Given the description of an element on the screen output the (x, y) to click on. 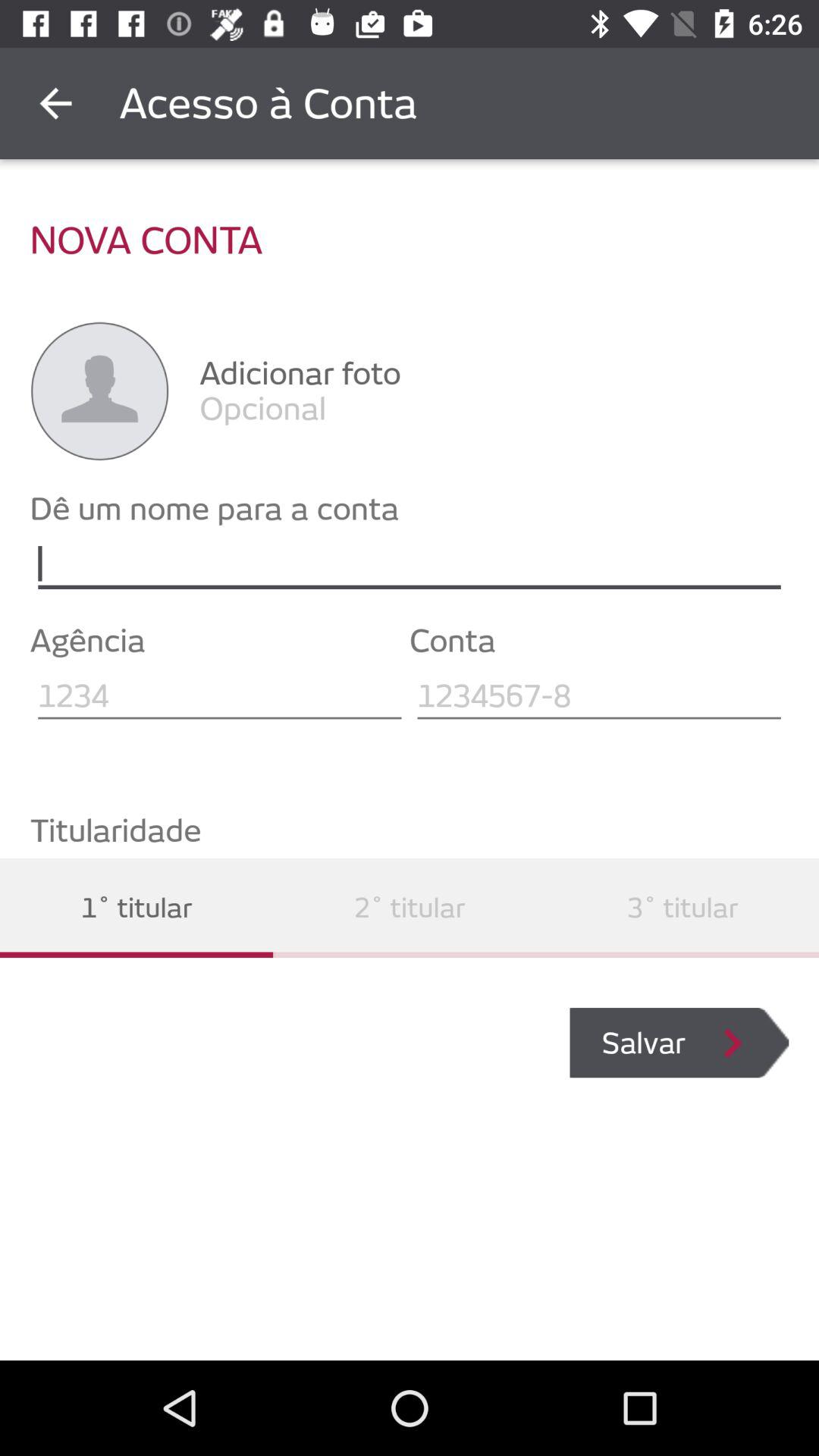
agency name (219, 696)
